Given the description of an element on the screen output the (x, y) to click on. 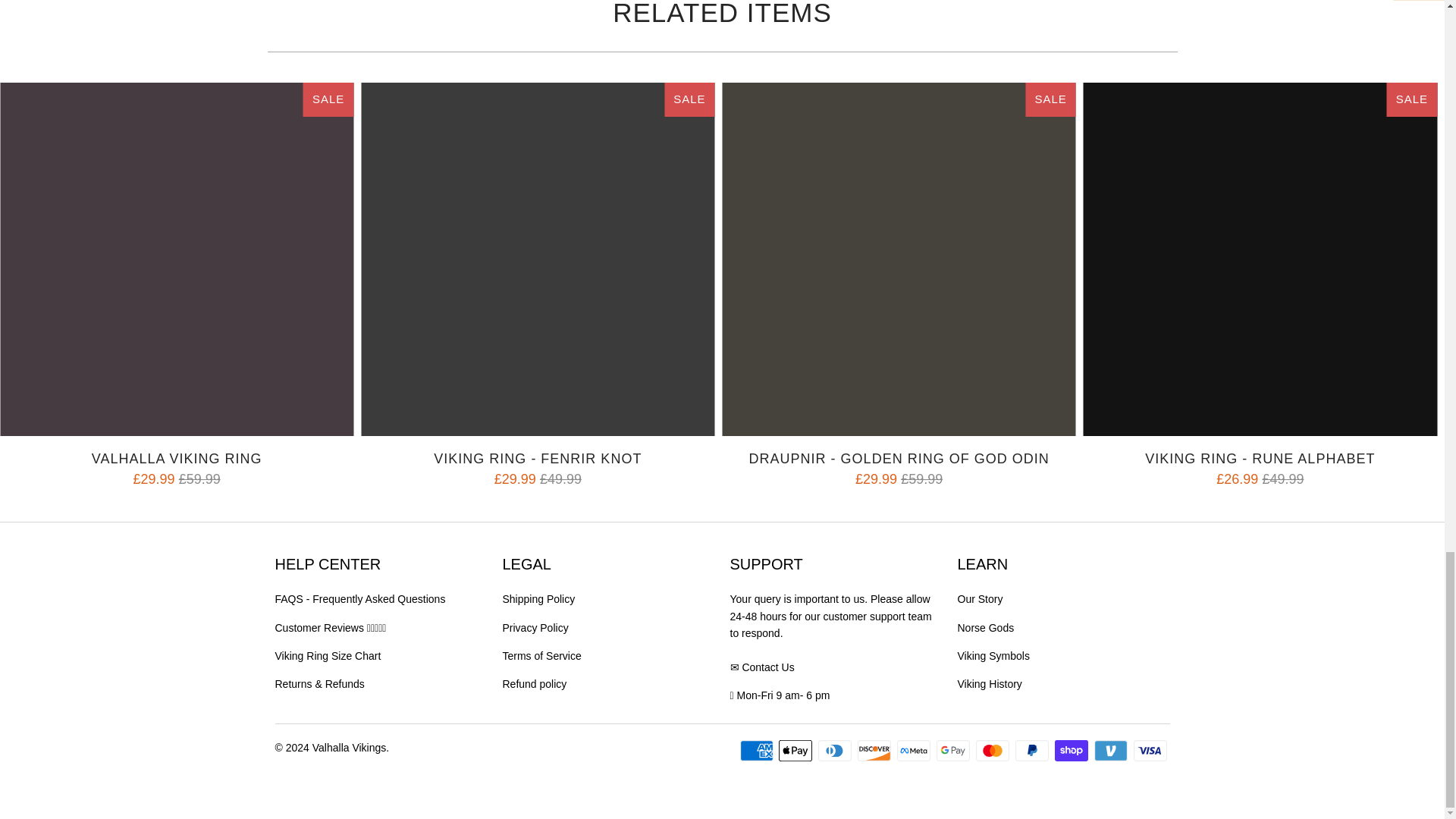
Shop Pay (1072, 750)
Apple Pay (796, 750)
American Express (757, 750)
Visa (1150, 750)
PayPal (1032, 750)
Mastercard (993, 750)
Contact Us (767, 666)
Google Pay (954, 750)
Meta Pay (914, 750)
Discover (875, 750)
Diners Club (836, 750)
Venmo (1112, 750)
